Given the description of an element on the screen output the (x, y) to click on. 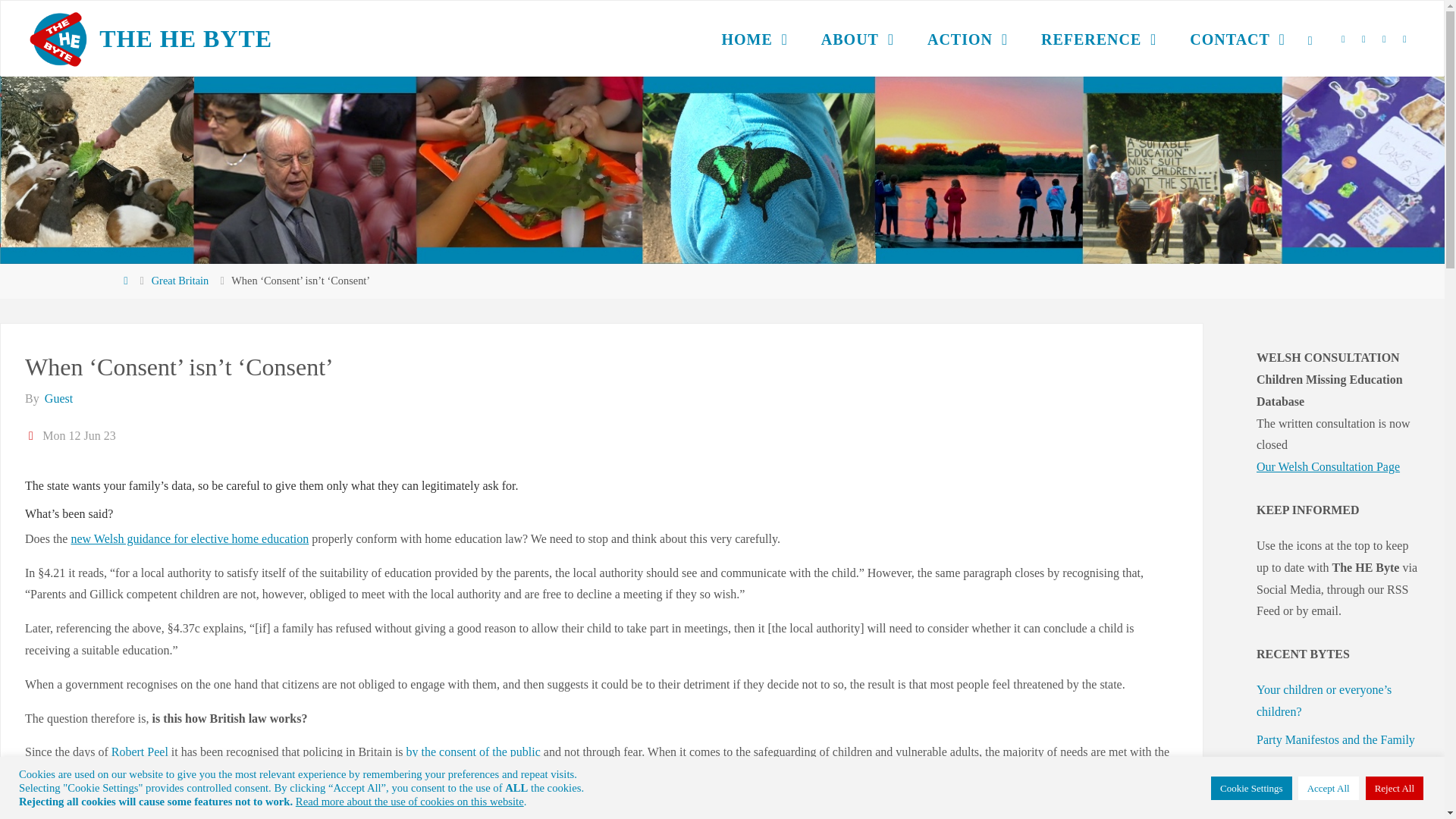
The HE Byte (58, 38)
Commenting on the UK EHE political scene (185, 38)
